Given the description of an element on the screen output the (x, y) to click on. 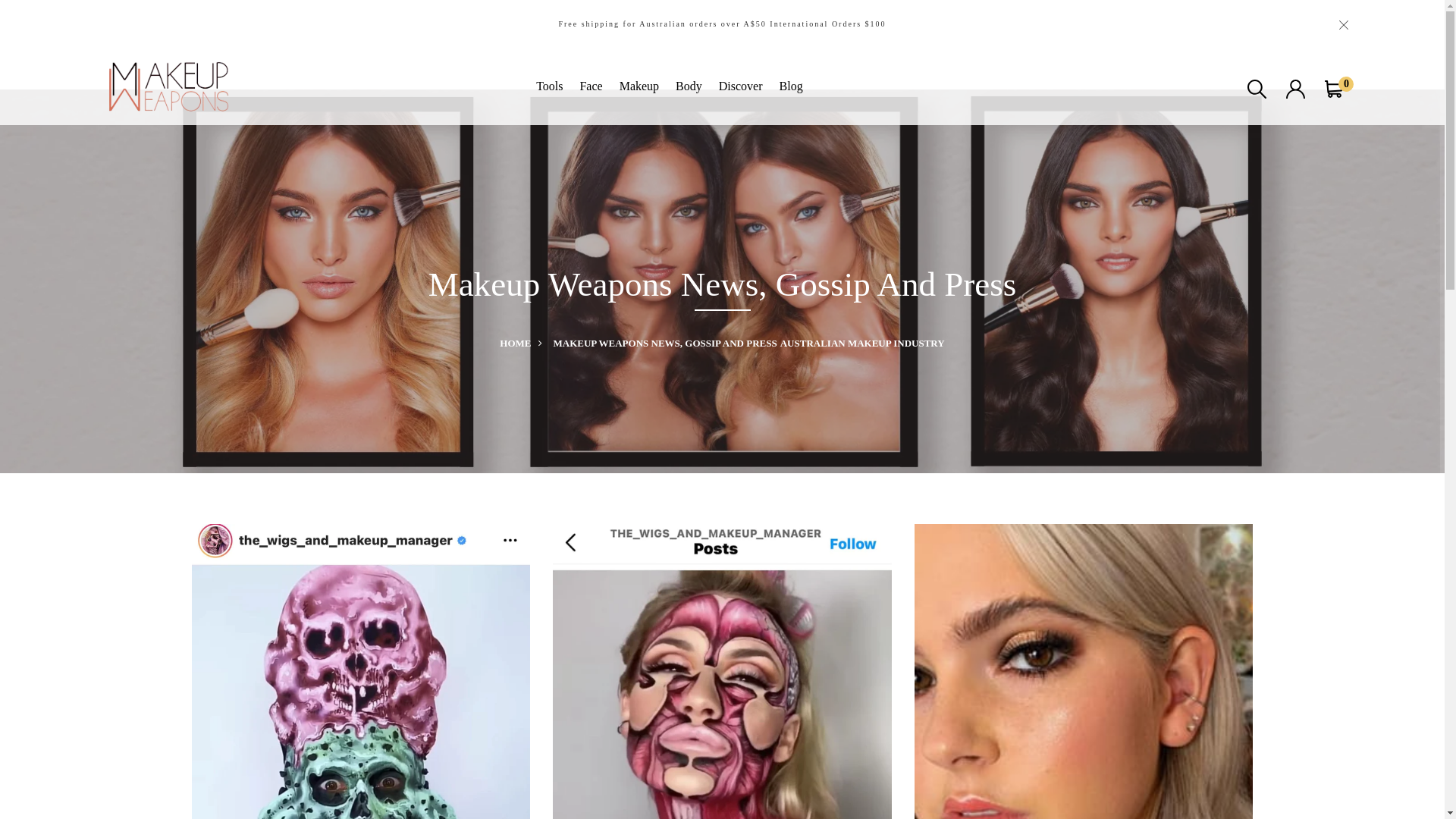
Discover Element type: text (740, 86)
MAKEUP WEAPONS NEWS, GOSSIP AND PRESS Element type: text (664, 342)
HOME Element type: text (524, 342)
Face Element type: text (590, 86)
Body Element type: text (688, 86)
0 Element type: text (1333, 87)
Blog Element type: text (791, 86)
Log In Element type: text (722, 507)
Makeup Element type: text (638, 86)
Tools Element type: text (549, 86)
